Given the description of an element on the screen output the (x, y) to click on. 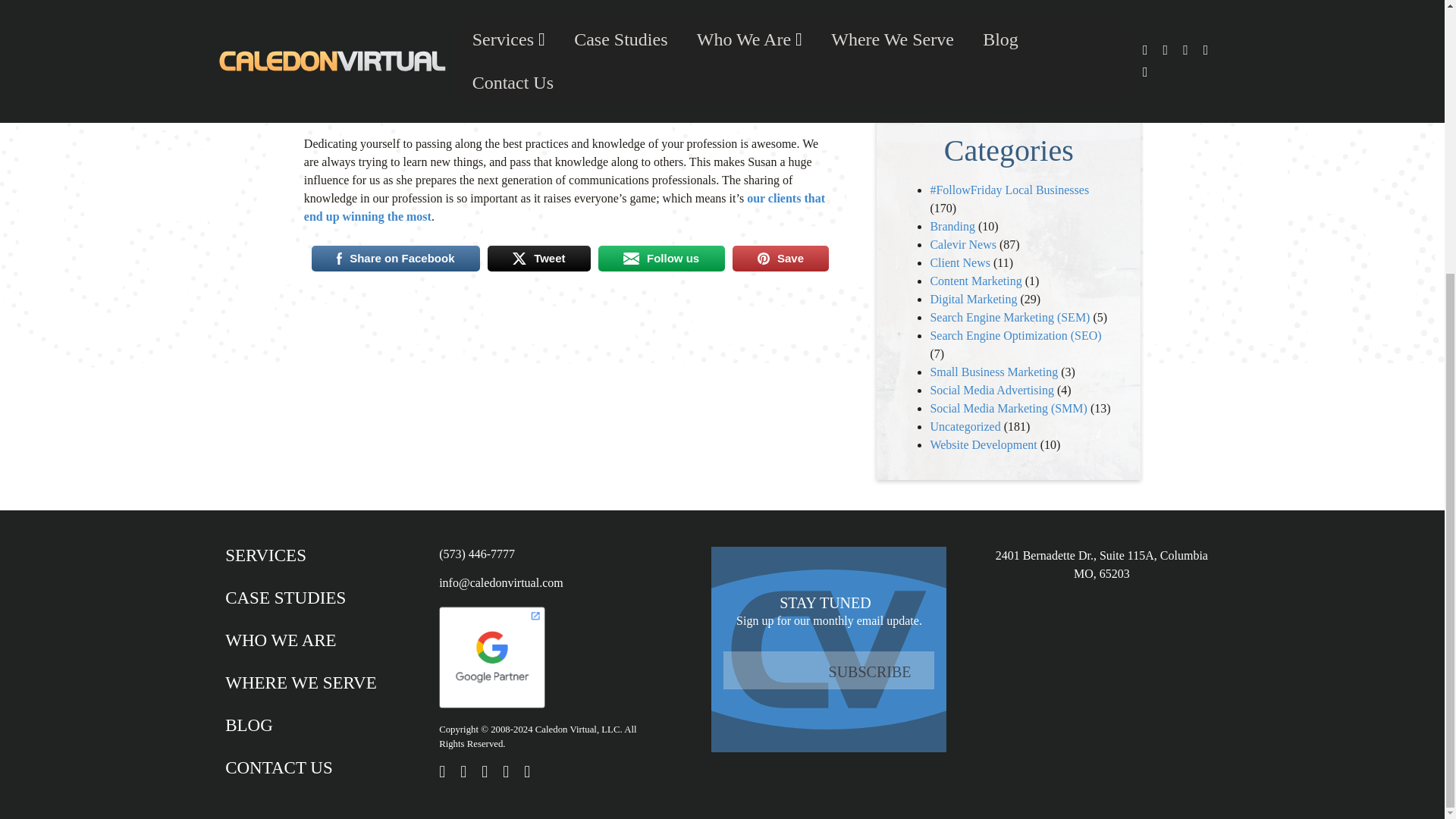
Go (1008, 29)
Services (301, 567)
Case Studies (301, 609)
Go (1008, 29)
Follow us (661, 258)
Who We Are (301, 652)
Tweet (539, 258)
Share on Facebook (395, 258)
SUBSCRIBE (869, 671)
LinkedIn (360, 0)
Where We Serve (301, 695)
Blog (301, 737)
our clients that end up winning the most (564, 206)
